Given the description of an element on the screen output the (x, y) to click on. 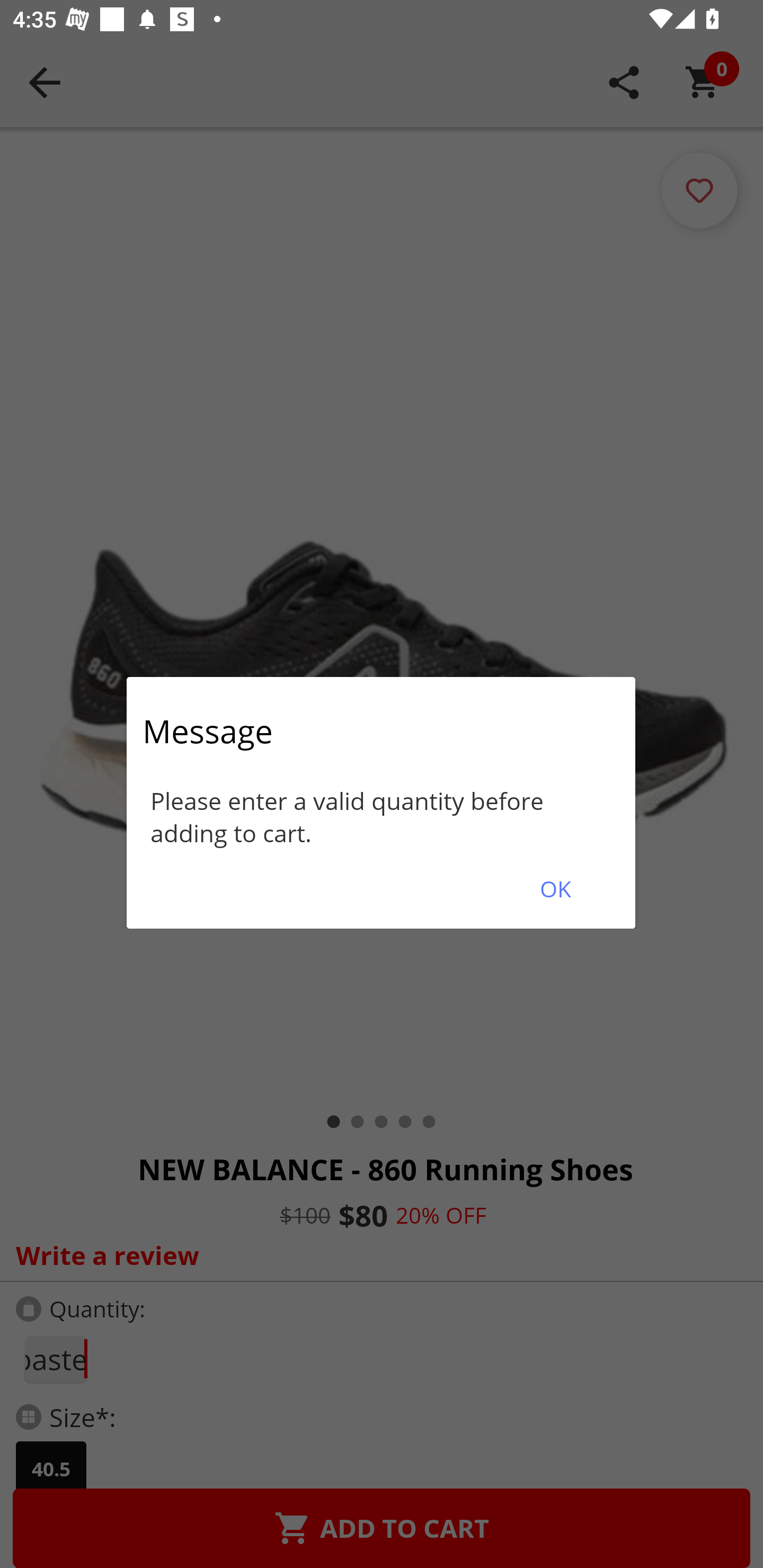
OK (555, 888)
